Given the description of an element on the screen output the (x, y) to click on. 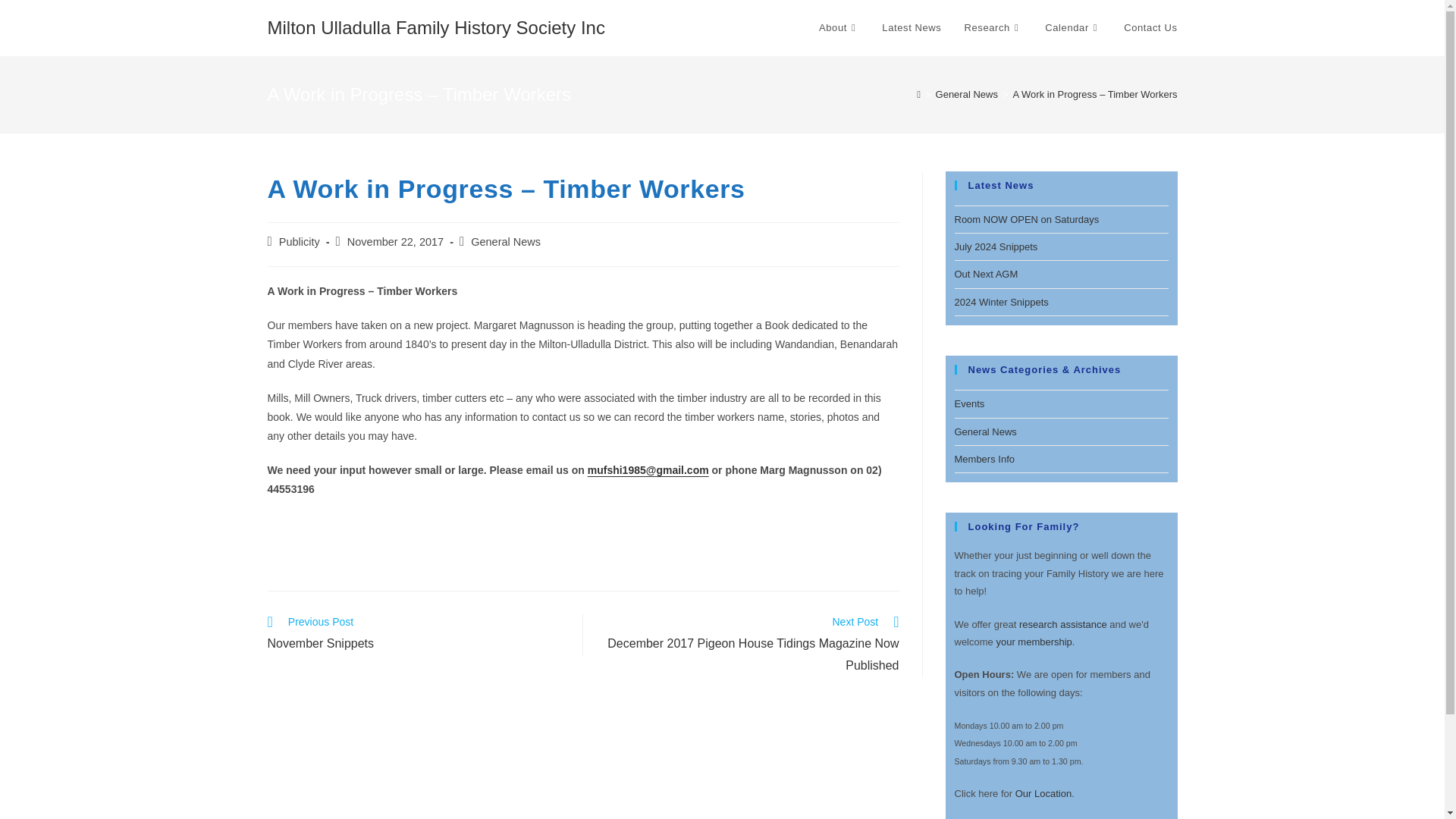
About (839, 28)
Research (992, 28)
Contact Us (1150, 28)
Milton Ulladulla Family History Society Inc (435, 27)
Posts by Publicity (299, 241)
Calendar (1072, 28)
Latest News (911, 28)
